Given the description of an element on the screen output the (x, y) to click on. 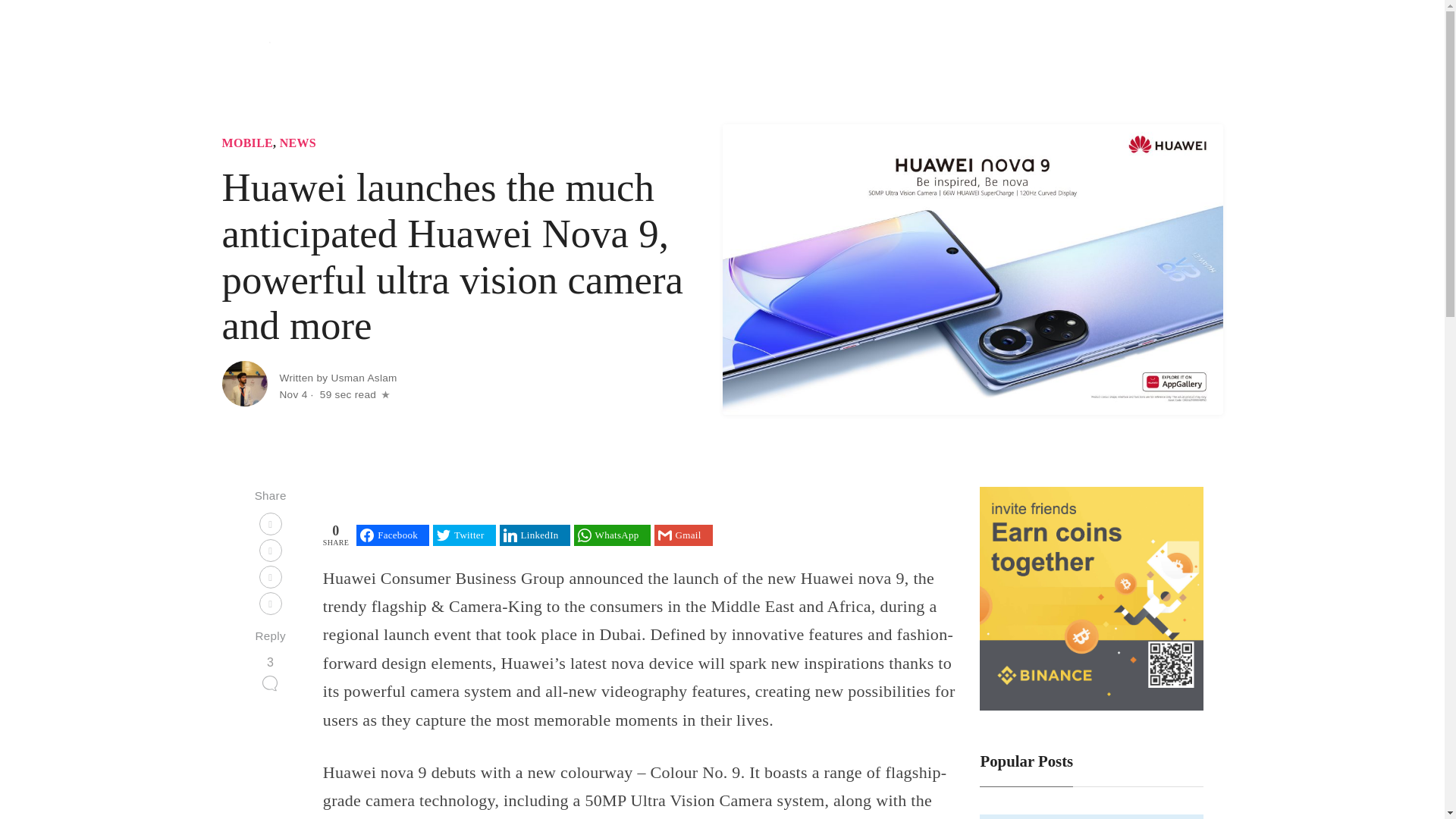
Investment (1037, 49)
Mobile (972, 49)
Share on WhatsApp (611, 535)
Share on Facebook (392, 535)
Written by Usman Aslam (337, 378)
Share on Gmail (683, 535)
Technology (849, 49)
Writers (1192, 49)
Startups (914, 49)
Share on Twitter (463, 535)
Online Earning (1116, 49)
Facebook (392, 535)
Twitter (463, 535)
Share on LinkedIn (534, 535)
MOBILE (247, 142)
